Given the description of an element on the screen output the (x, y) to click on. 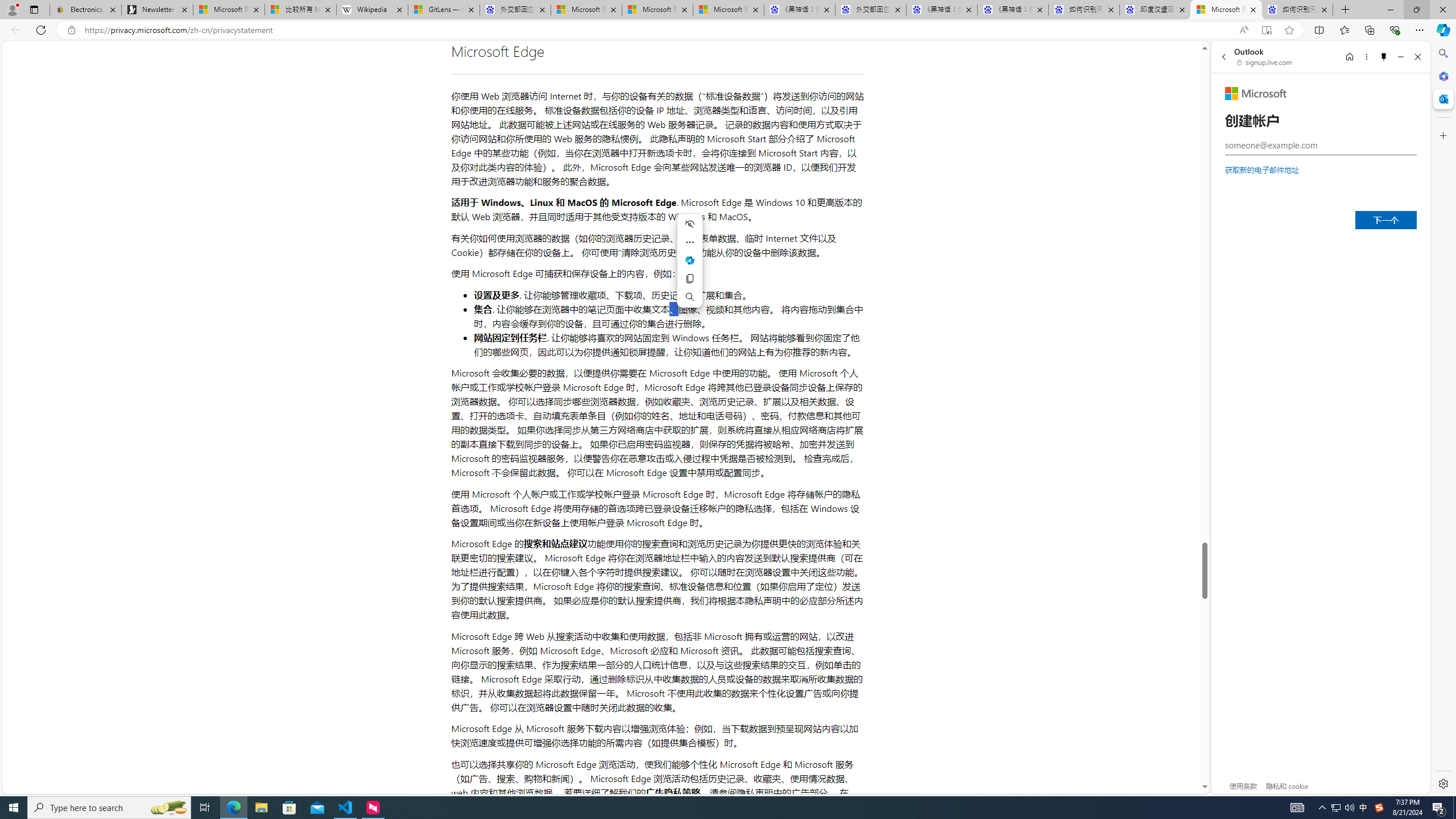
Newsletter Sign Up (157, 9)
More actions (689, 242)
Copy (689, 278)
